Given the description of an element on the screen output the (x, y) to click on. 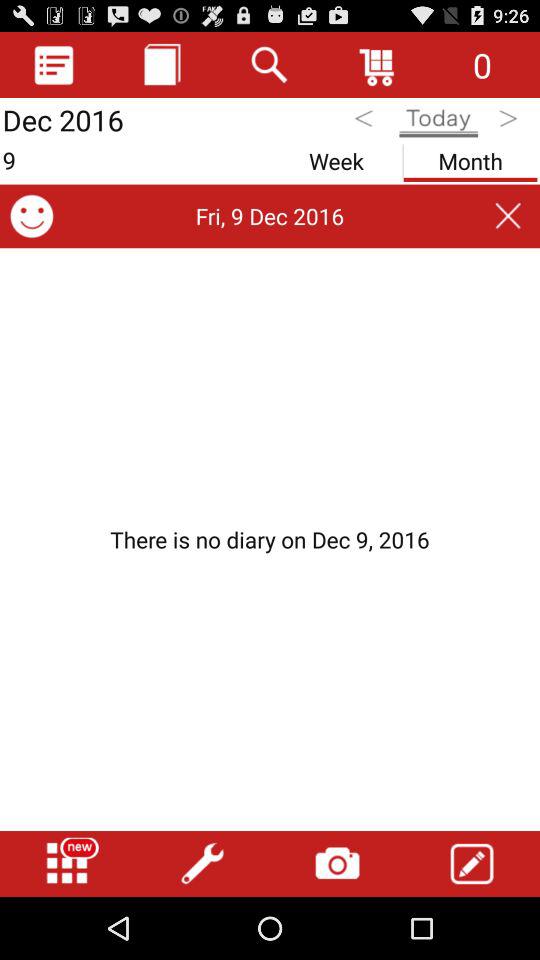
select icon above the dec 2016 icon (53, 64)
